Given the description of an element on the screen output the (x, y) to click on. 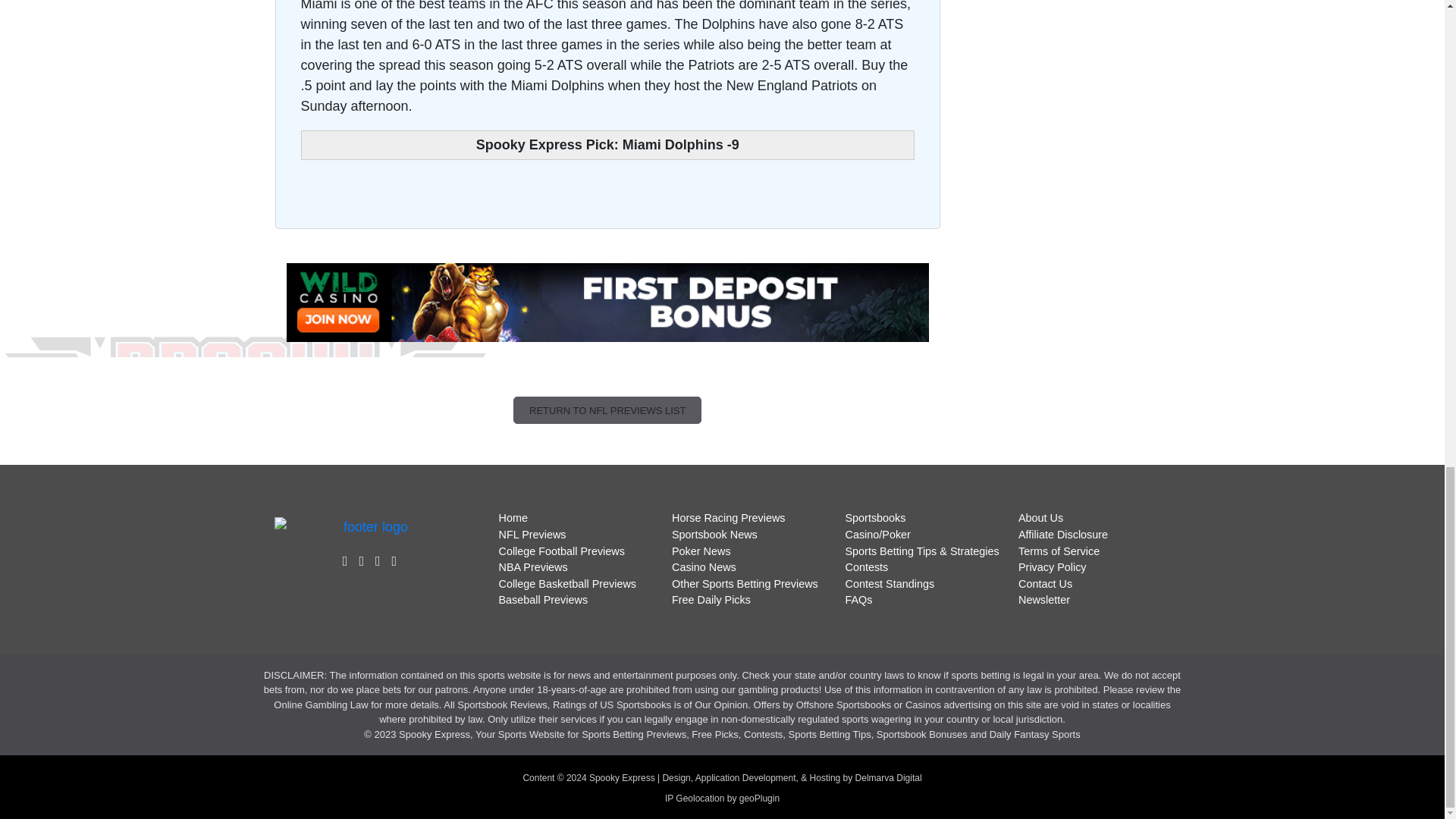
RETURN TO NFL PREVIEWS LIST (607, 410)
Home (513, 517)
